Given the description of an element on the screen output the (x, y) to click on. 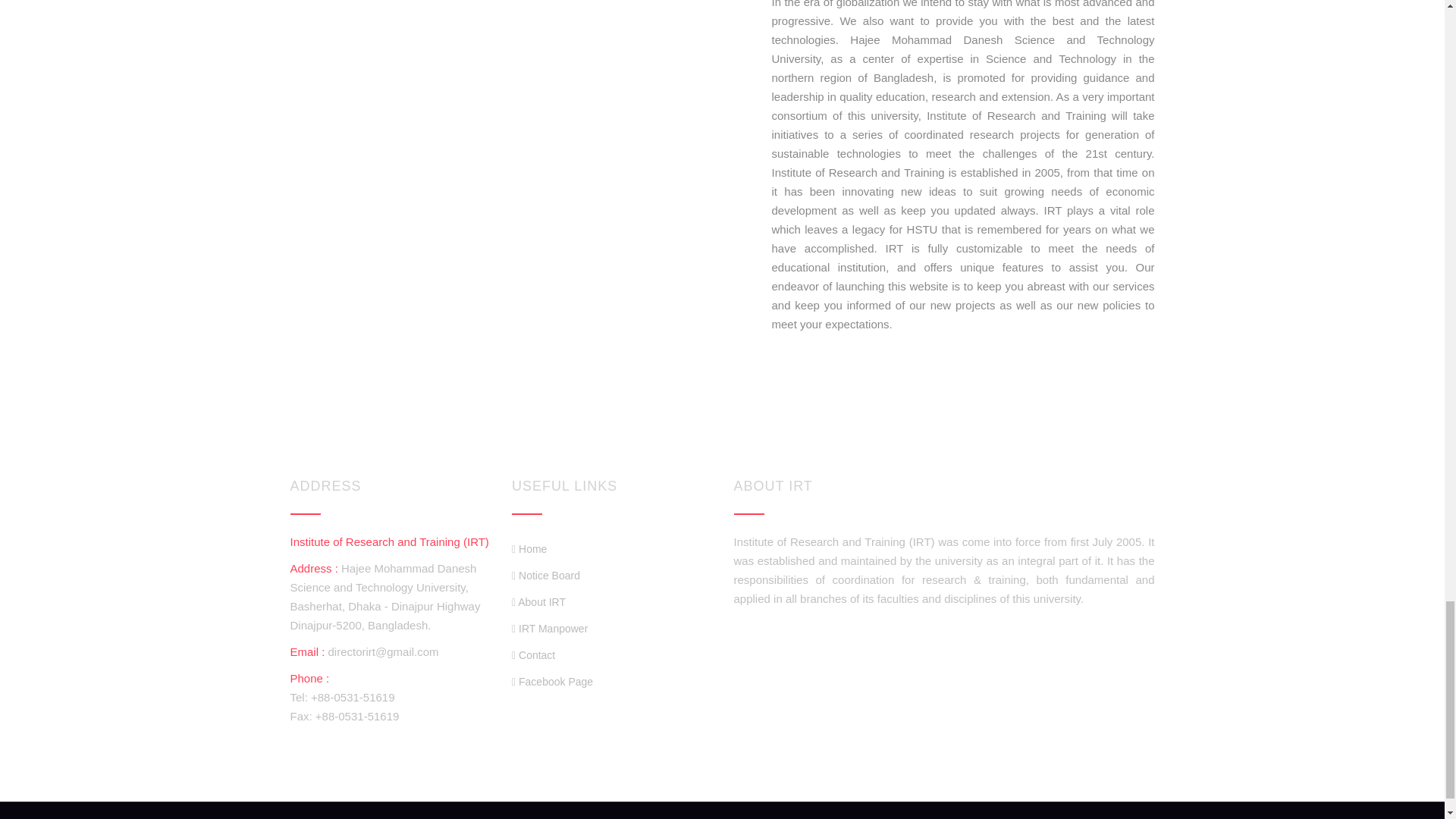
IRT Manpower (550, 628)
About IRT (539, 601)
Contact (533, 655)
Facebook Page (552, 681)
Home (529, 548)
Notice Board (545, 575)
